Given the description of an element on the screen output the (x, y) to click on. 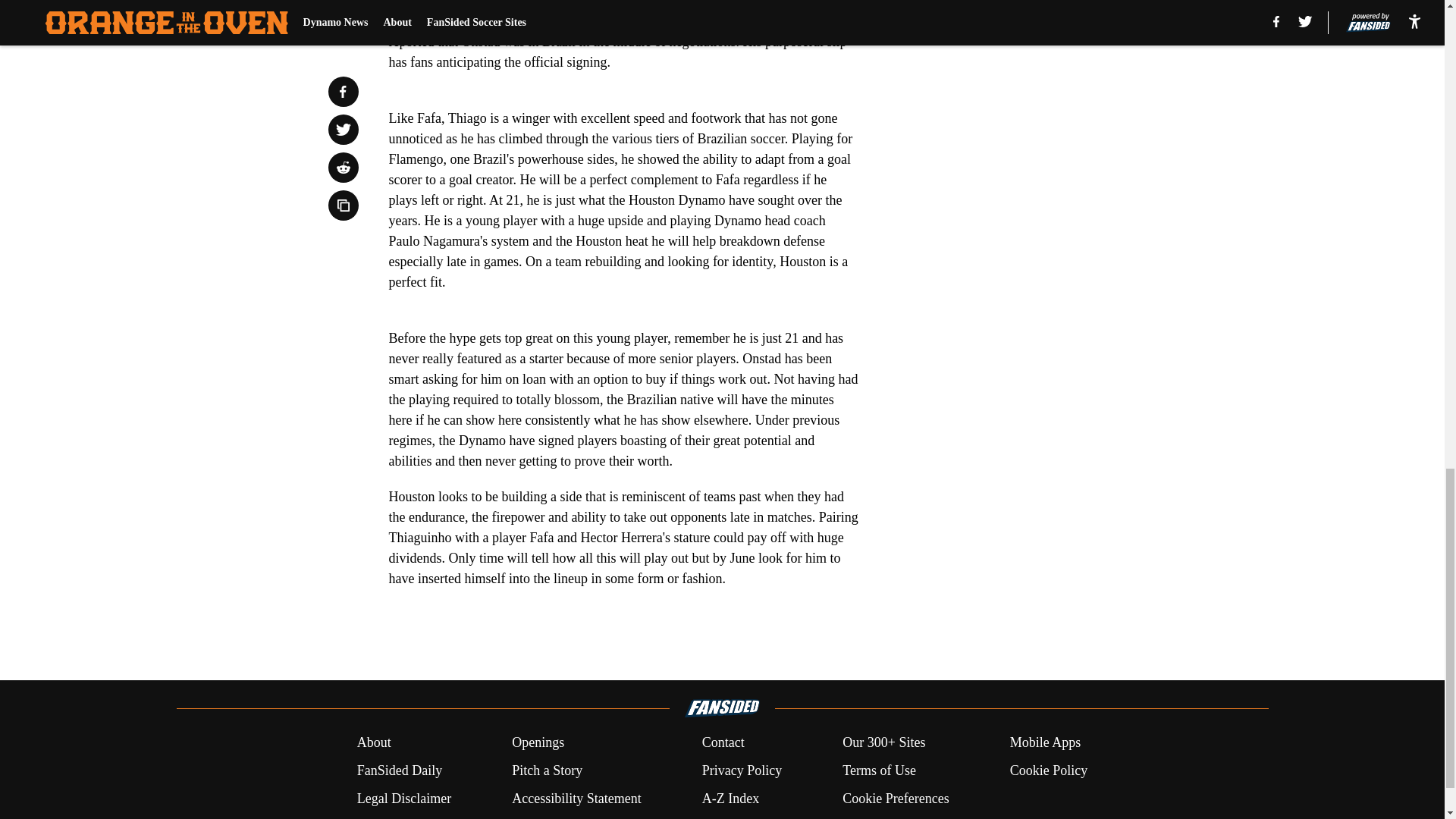
Legal Disclaimer (403, 798)
Terms of Use (879, 770)
Mobile Apps (1045, 742)
Cookie Policy (1048, 770)
Privacy Policy (742, 770)
About (373, 742)
Accessibility Statement (576, 798)
FanSided Daily (399, 770)
A-Z Index (729, 798)
Contact (722, 742)
